Given the description of an element on the screen output the (x, y) to click on. 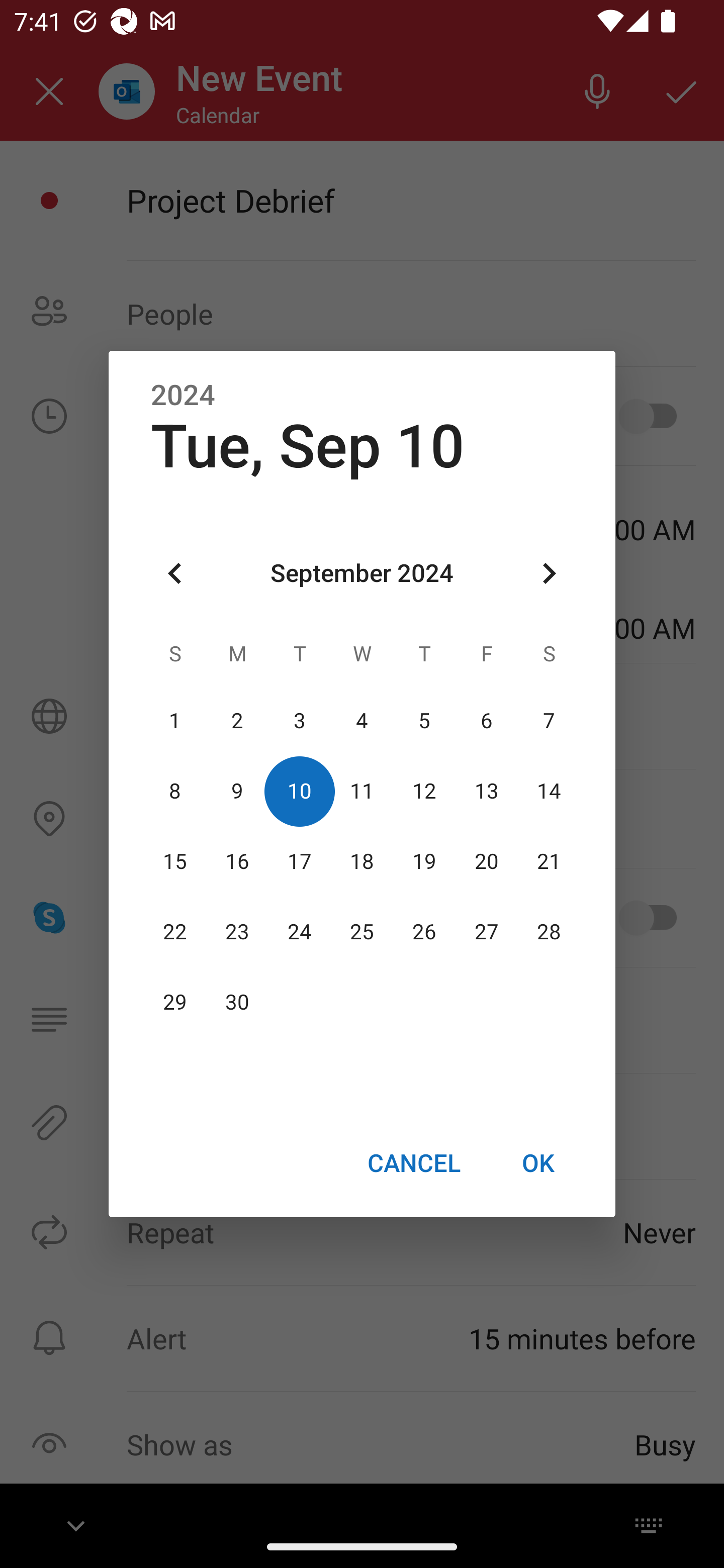
2024 (182, 395)
Tue, Sep 10 (307, 446)
Previous month (174, 573)
Next month (548, 573)
1 01 September 2024 (175, 720)
2 02 September 2024 (237, 720)
3 03 September 2024 (299, 720)
4 04 September 2024 (361, 720)
5 05 September 2024 (424, 720)
6 06 September 2024 (486, 720)
7 07 September 2024 (548, 720)
8 08 September 2024 (175, 790)
9 09 September 2024 (237, 790)
10 10 September 2024 (299, 790)
11 11 September 2024 (361, 790)
12 12 September 2024 (424, 790)
13 13 September 2024 (486, 790)
14 14 September 2024 (548, 790)
15 15 September 2024 (175, 861)
16 16 September 2024 (237, 861)
17 17 September 2024 (299, 861)
18 18 September 2024 (361, 861)
19 19 September 2024 (424, 861)
20 20 September 2024 (486, 861)
21 21 September 2024 (548, 861)
22 22 September 2024 (175, 931)
23 23 September 2024 (237, 931)
24 24 September 2024 (299, 931)
25 25 September 2024 (361, 931)
26 26 September 2024 (424, 931)
27 27 September 2024 (486, 931)
28 28 September 2024 (548, 931)
29 29 September 2024 (175, 1002)
30 30 September 2024 (237, 1002)
CANCEL (413, 1162)
OK (537, 1162)
